Given the description of an element on the screen output the (x, y) to click on. 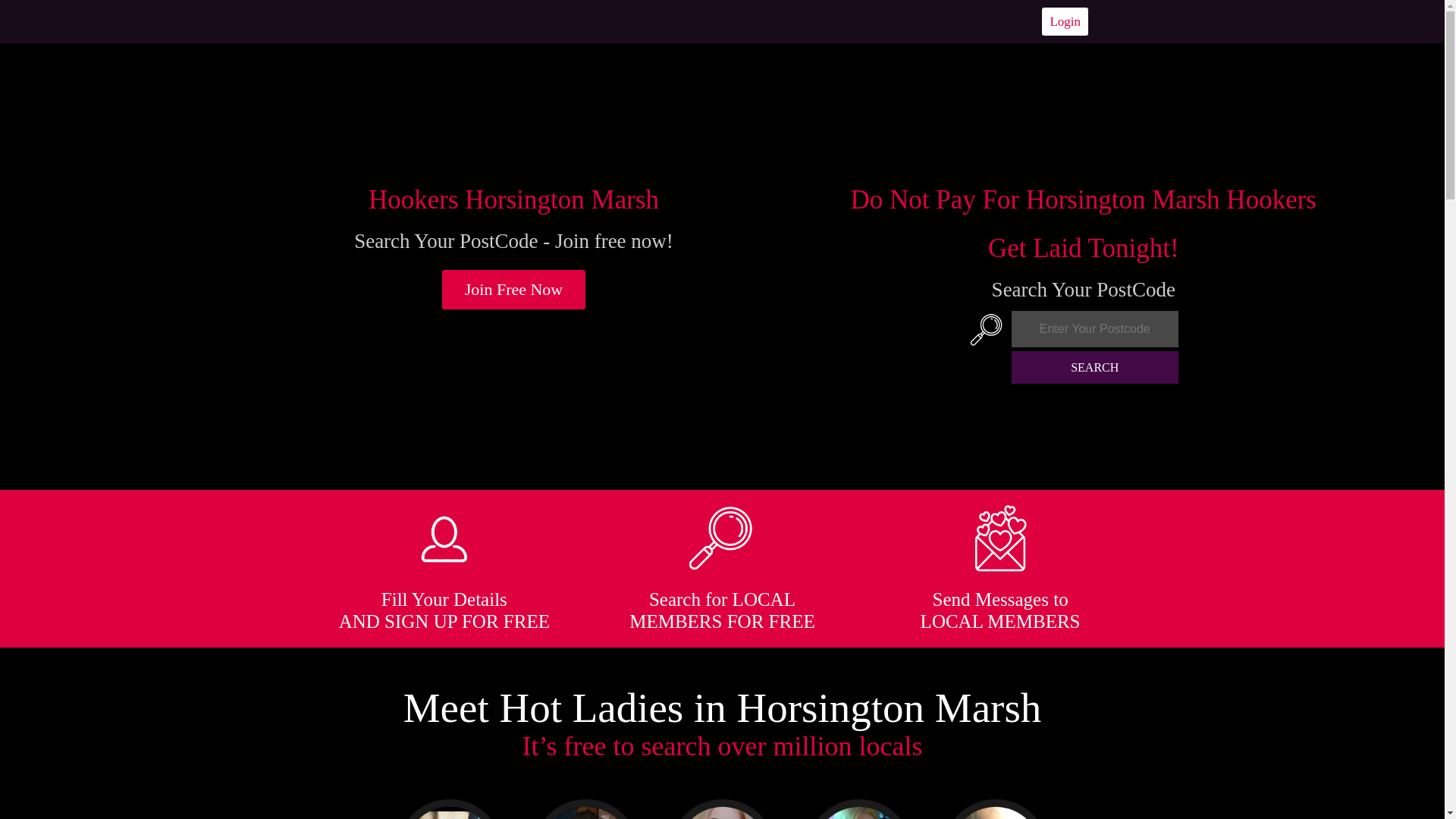
Join (514, 289)
Login (1064, 21)
Join Free Now (514, 289)
Login (1064, 21)
SEARCH (1094, 367)
